Given the description of an element on the screen output the (x, y) to click on. 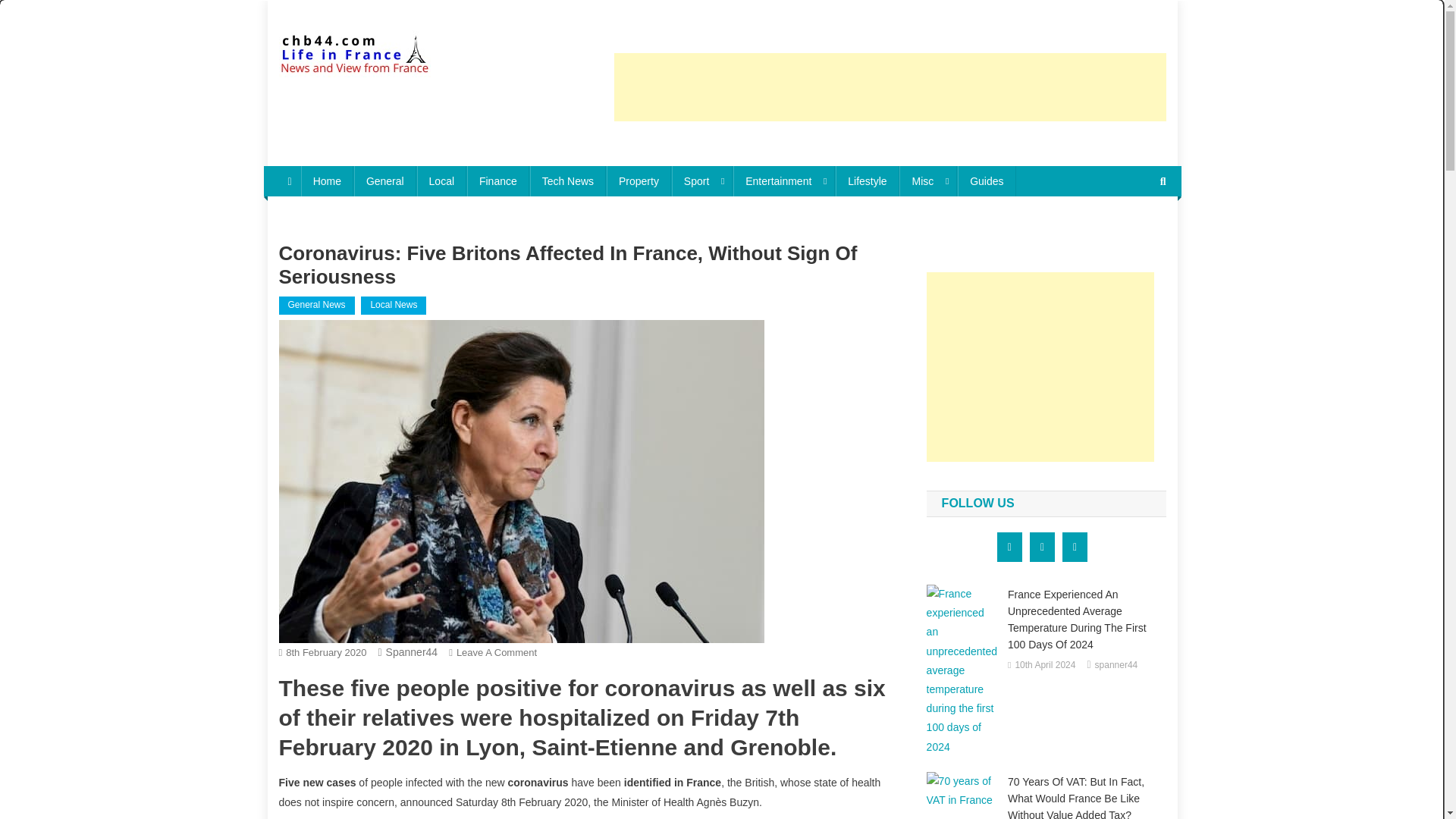
Sport (701, 181)
Spanner44 (411, 652)
Tech News (567, 181)
Skip to content (301, 9)
Entertainment (783, 181)
8th February 2020 (325, 652)
Lifestyle (866, 181)
Property (639, 181)
Finance (498, 181)
General News (317, 305)
Search (1133, 231)
Local News (393, 305)
